Given the description of an element on the screen output the (x, y) to click on. 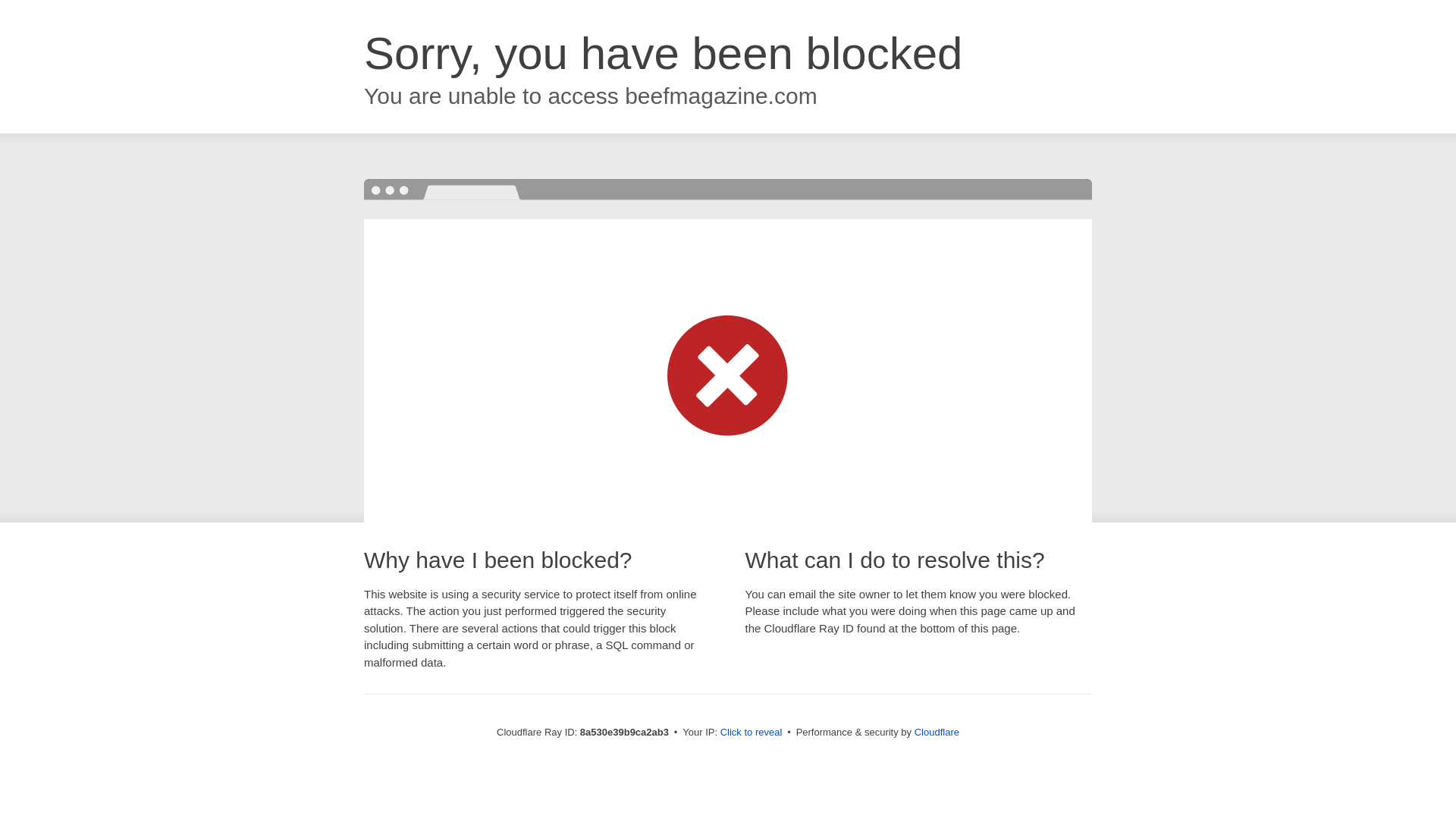
Cloudflare (936, 731)
Click to reveal (751, 732)
